Given the description of an element on the screen output the (x, y) to click on. 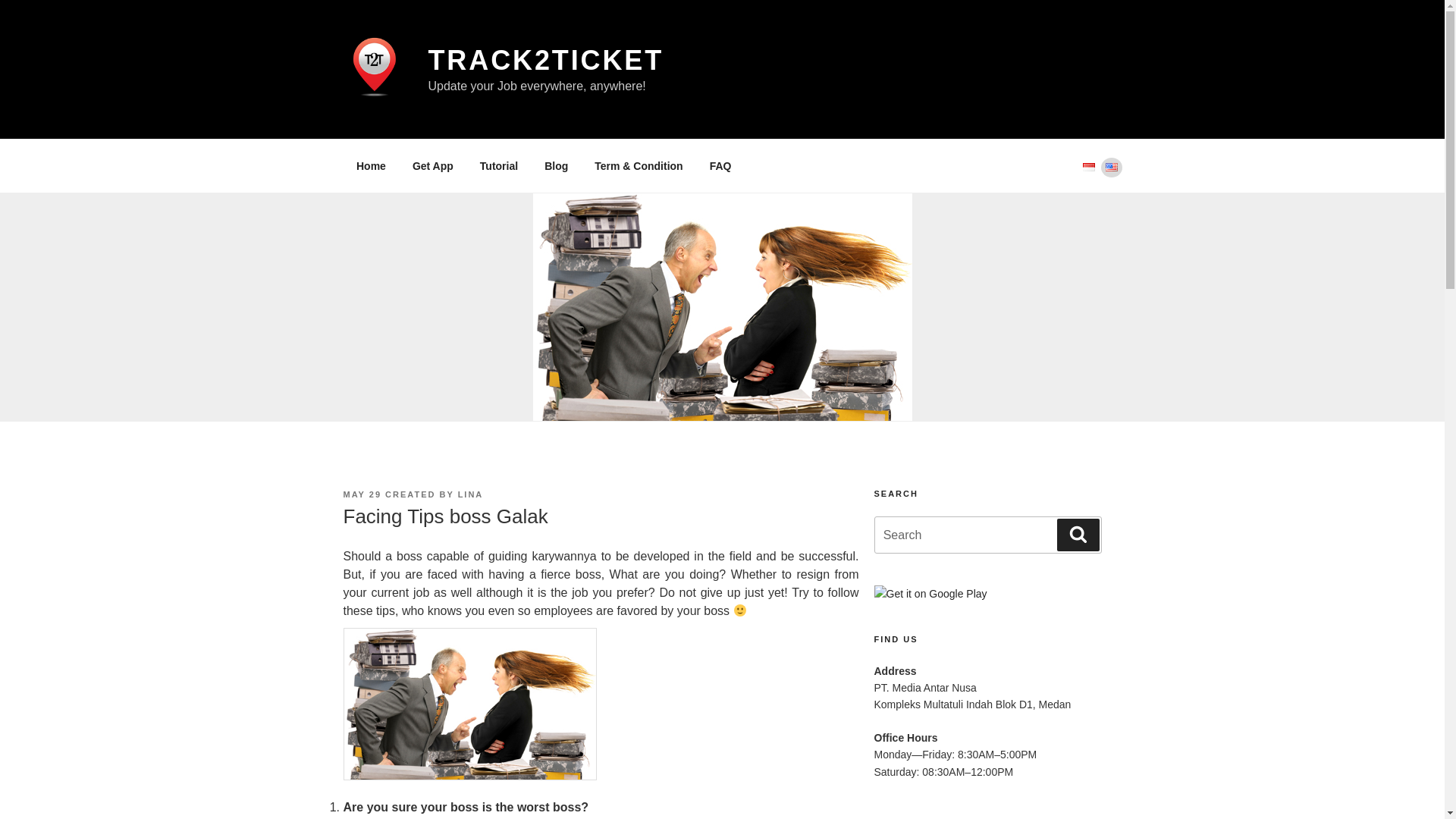
English (1110, 166)
Search (986, 534)
TRACK2TICKET (545, 60)
MAY 29 (361, 493)
LINA (470, 493)
Tutorial (498, 165)
Blog (555, 165)
Bahasa Indonesia (1088, 166)
Home (370, 165)
Get App (431, 165)
FAQ (719, 165)
Search (986, 534)
Search (1078, 534)
